Given the description of an element on the screen output the (x, y) to click on. 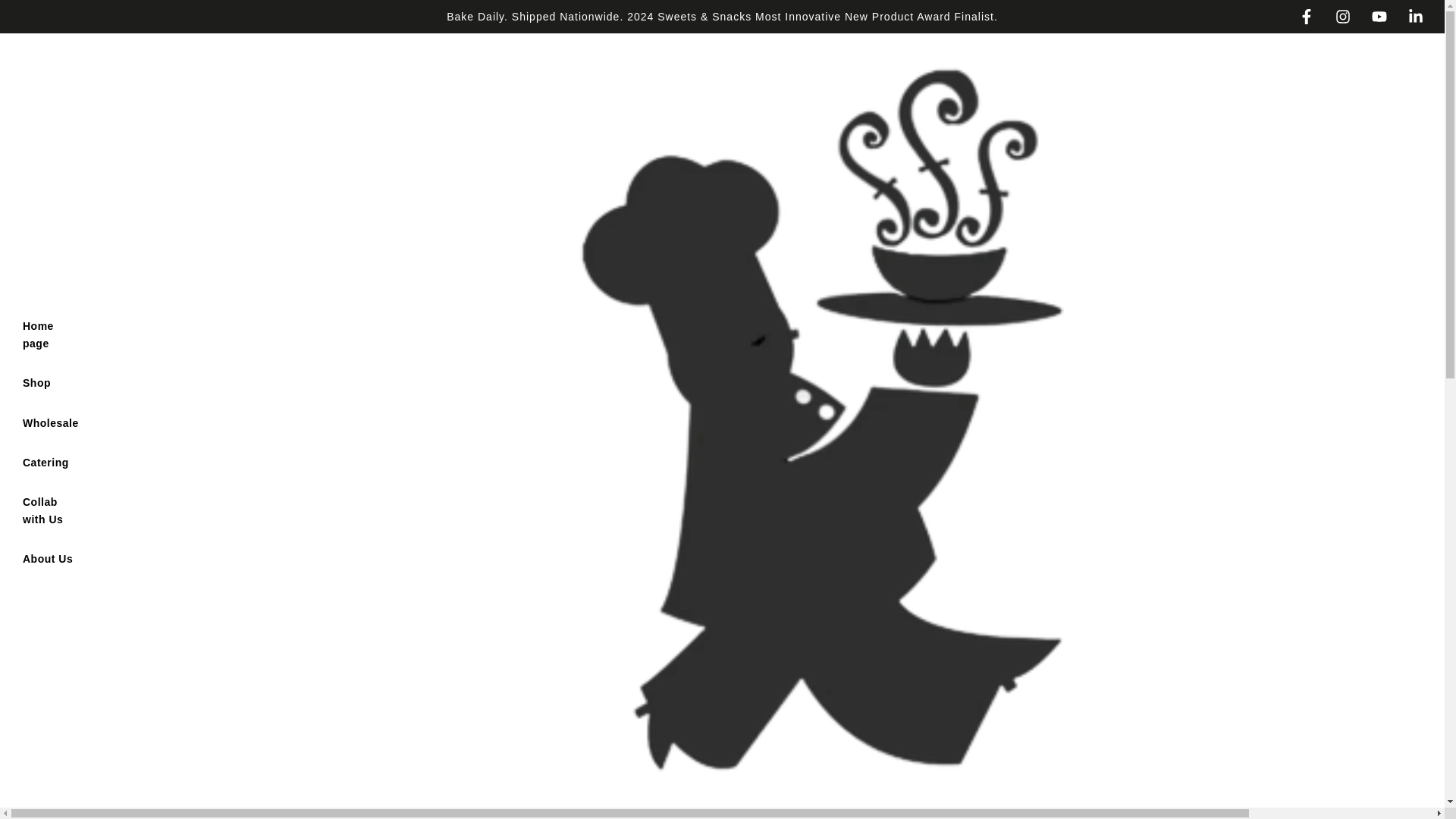
Collab with Us (50, 510)
Shop (36, 382)
Catering (45, 462)
Wholesale (50, 423)
Home page (50, 334)
About Us (47, 558)
